Given the description of an element on the screen output the (x, y) to click on. 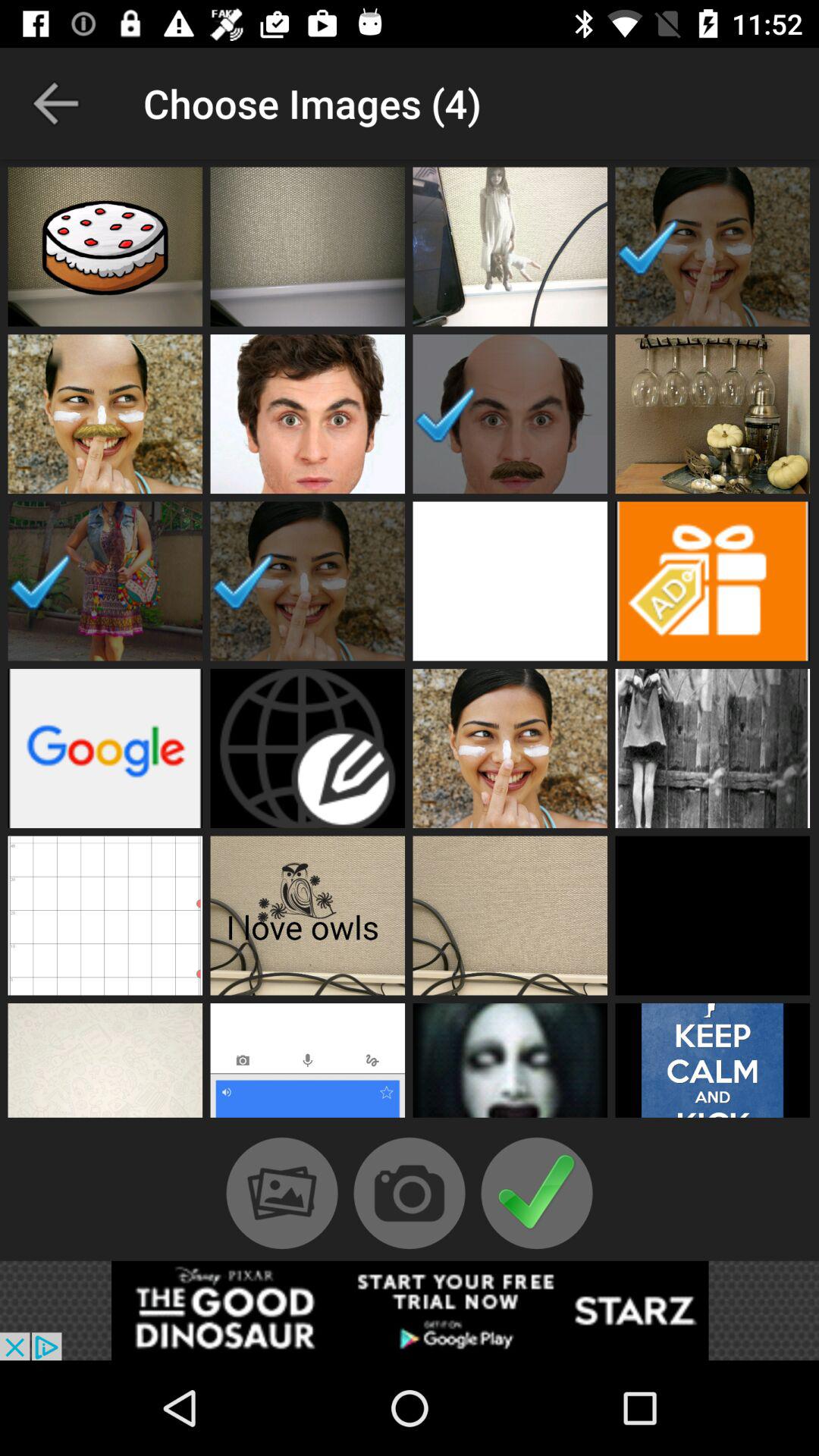
include photo in video (509, 246)
